Given the description of an element on the screen output the (x, y) to click on. 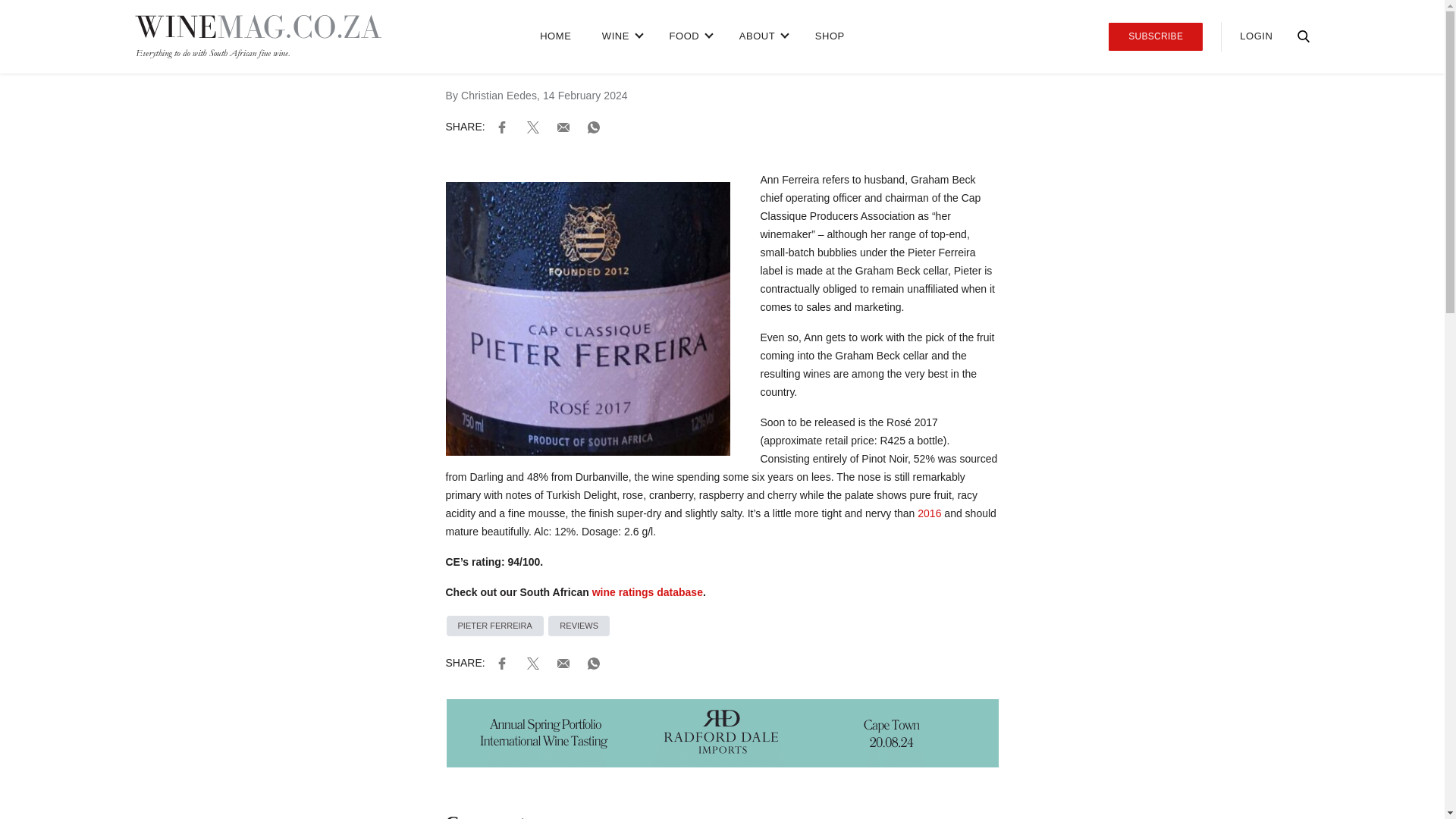
HOME (555, 35)
FOOD (688, 35)
WINE (620, 35)
Posts by Christian Eedes (499, 95)
